Given the description of an element on the screen output the (x, y) to click on. 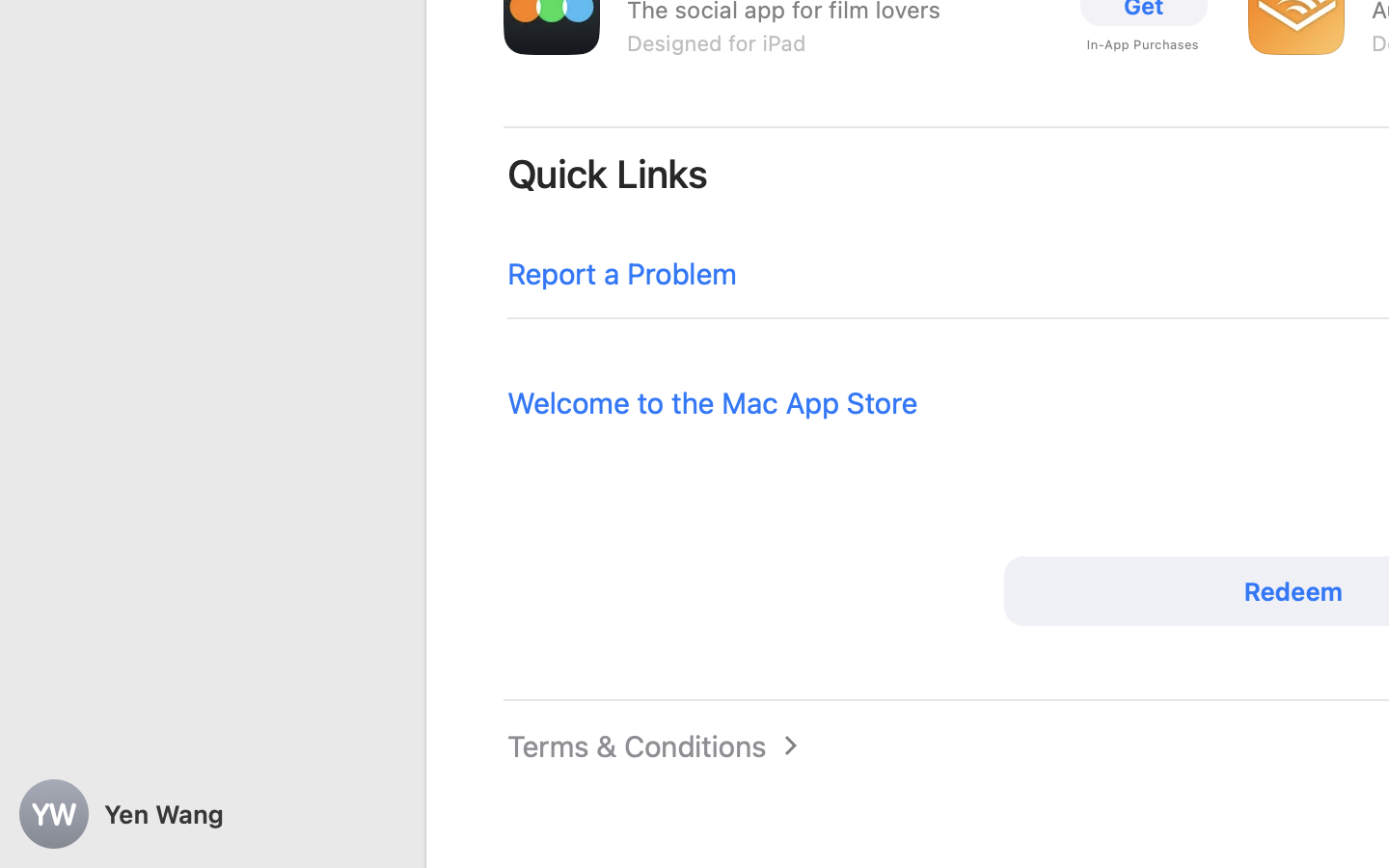
Yen Wang Element type: AXButton (212, 813)
